Given the description of an element on the screen output the (x, y) to click on. 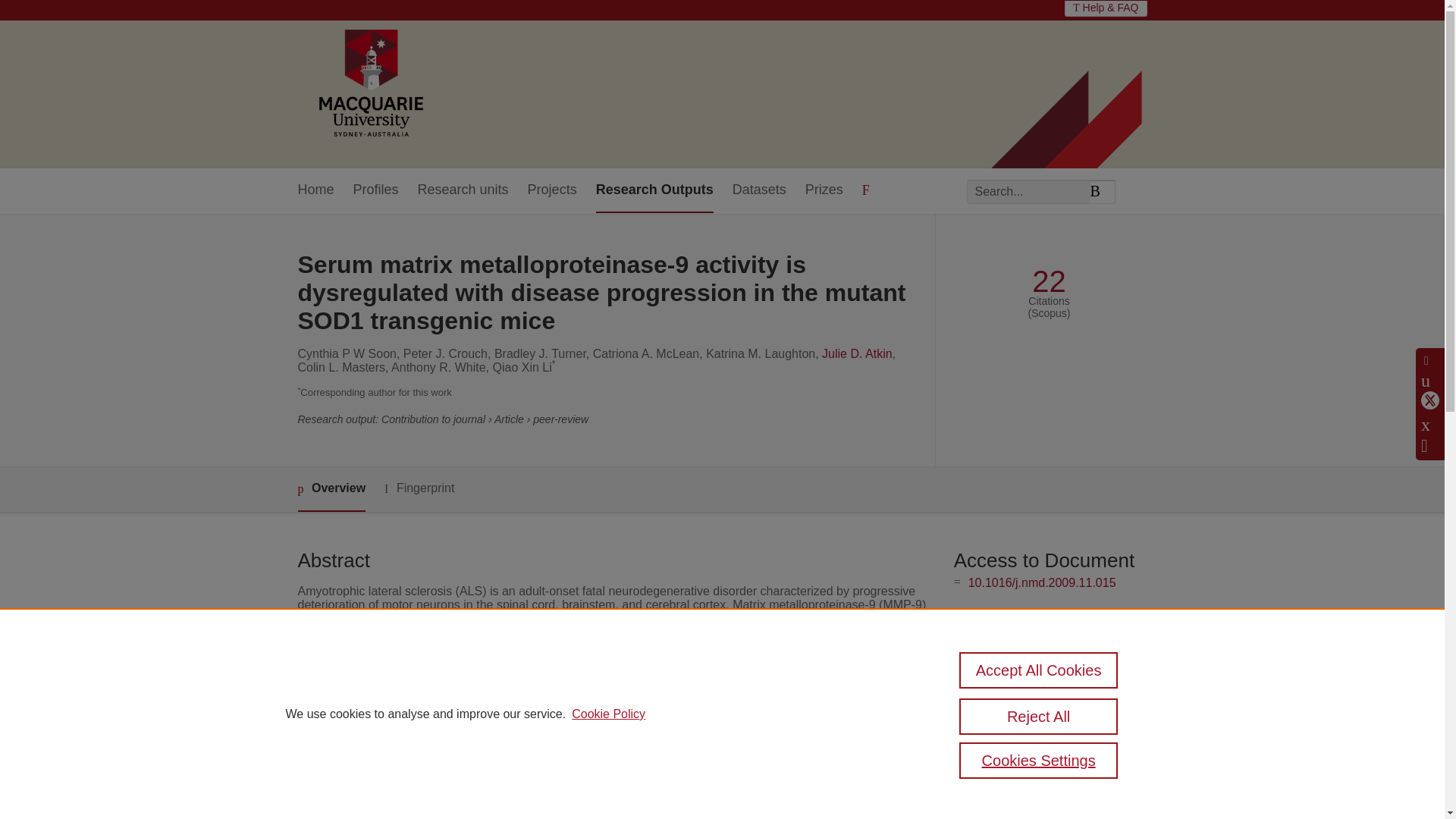
Research Outputs (654, 190)
Profiles (375, 190)
Macquarie University Home (369, 84)
Overview (331, 488)
Link to publication in Scopus (1045, 642)
Fingerprint (419, 488)
Julie D. Atkin (856, 353)
22 (1048, 281)
Projects (551, 190)
Research units (462, 190)
Datasets (759, 190)
